Given the description of an element on the screen output the (x, y) to click on. 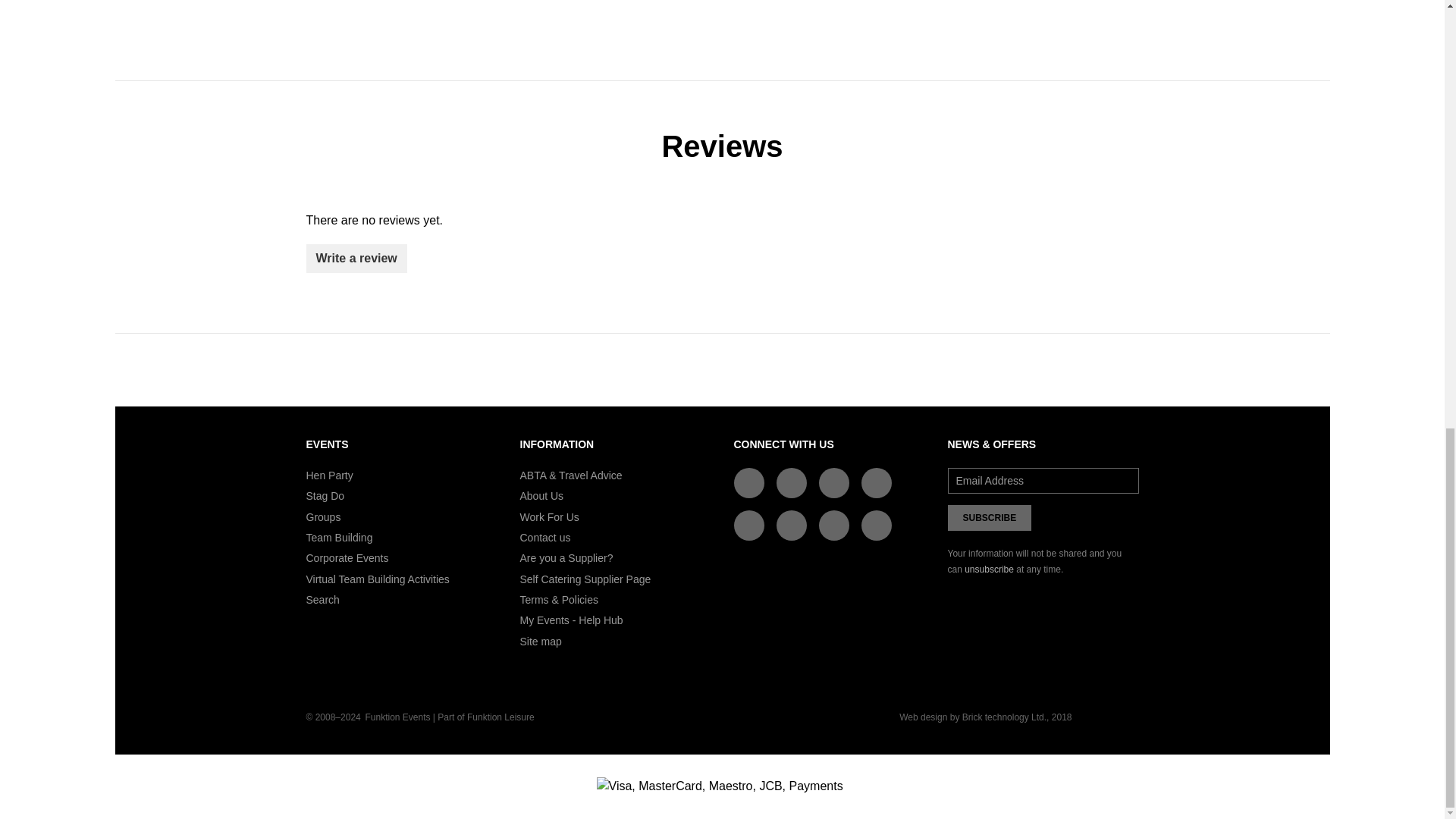
Subscribe (989, 517)
Find event you are looking for (322, 600)
